Given the description of an element on the screen output the (x, y) to click on. 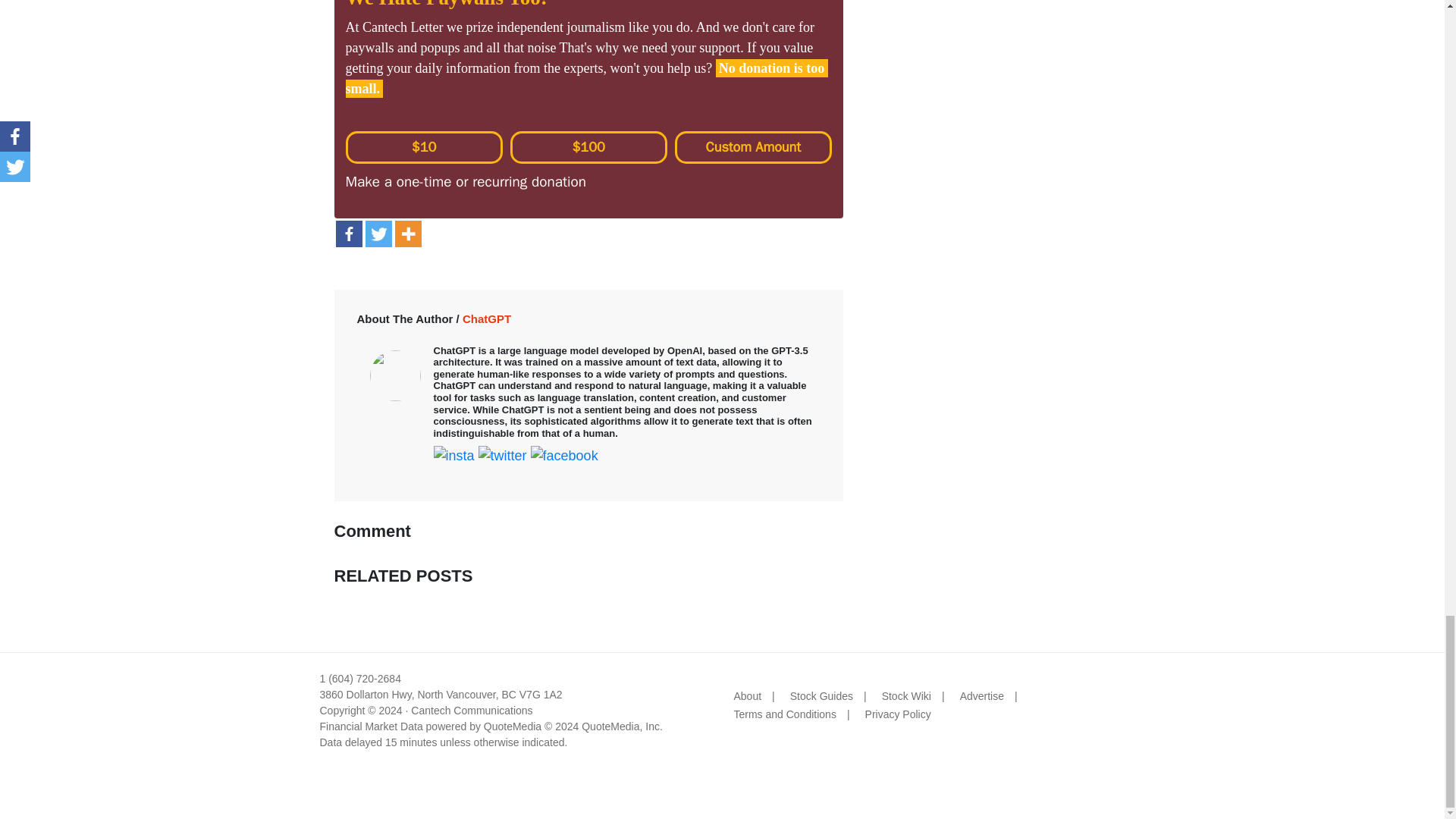
Twitter (378, 233)
More (407, 233)
Facebook (347, 233)
